Given the description of an element on the screen output the (x, y) to click on. 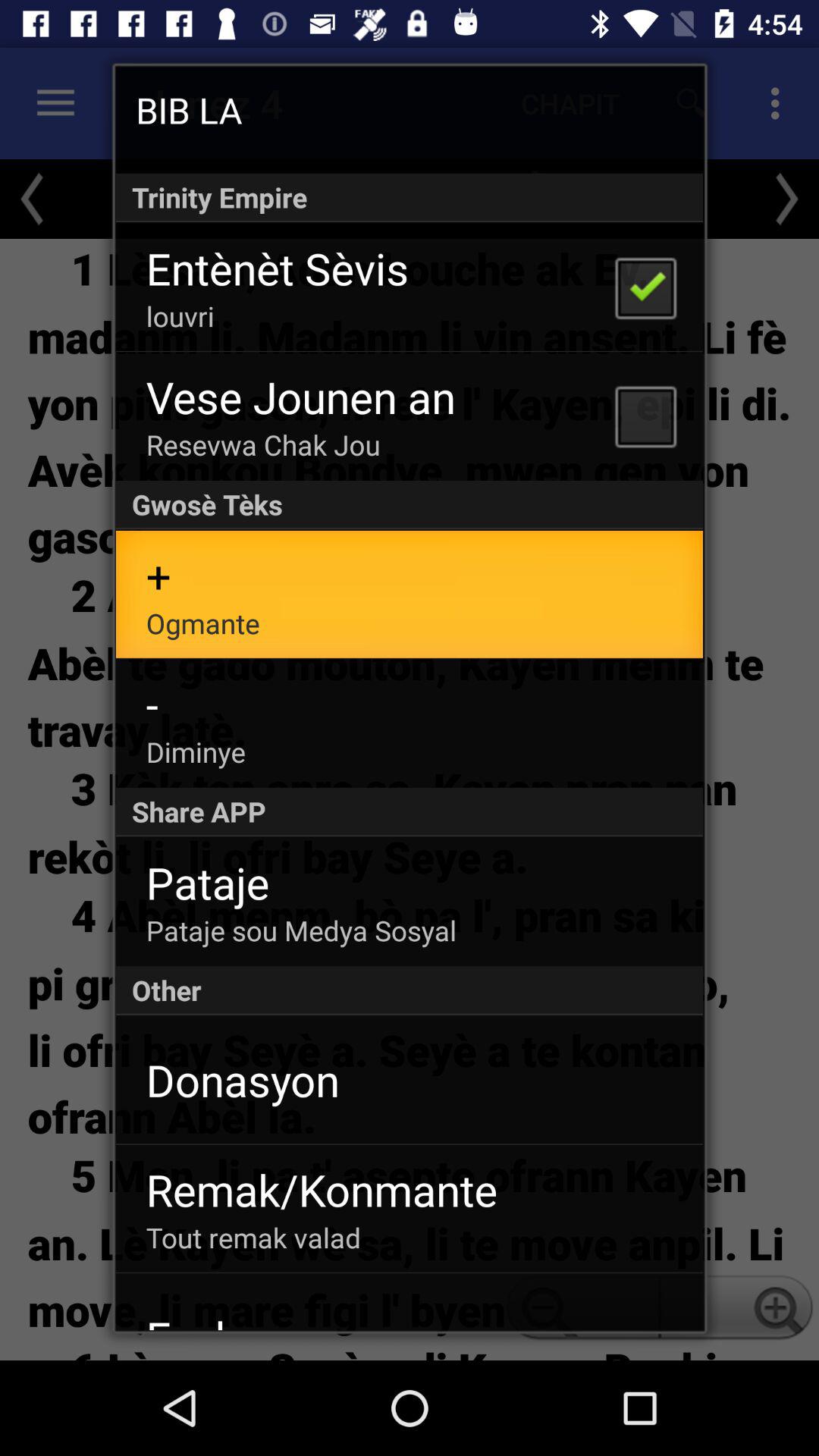
tap app above vese jounen an item (180, 315)
